Given the description of an element on the screen output the (x, y) to click on. 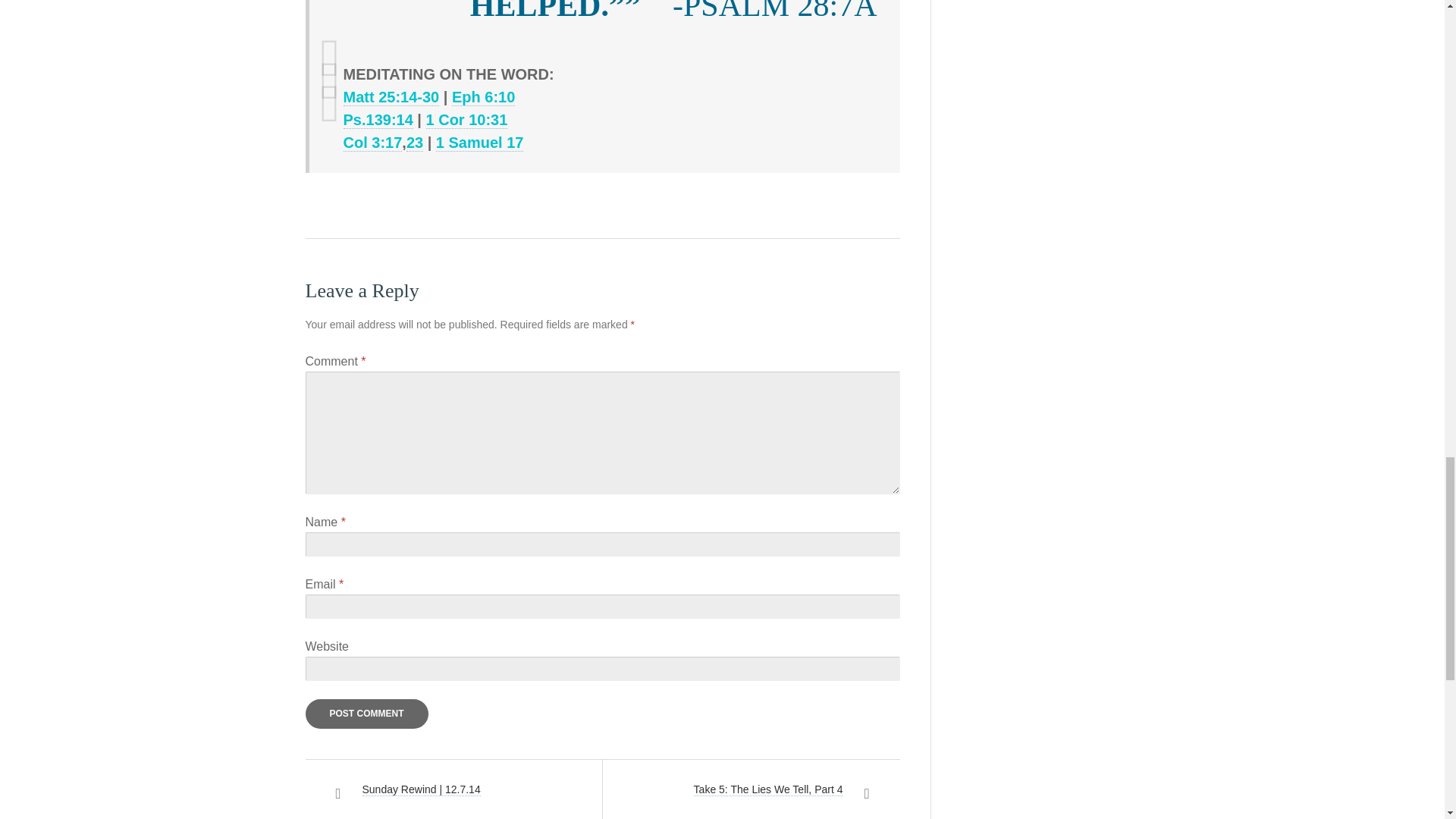
Post Comment (366, 713)
